Given the description of an element on the screen output the (x, y) to click on. 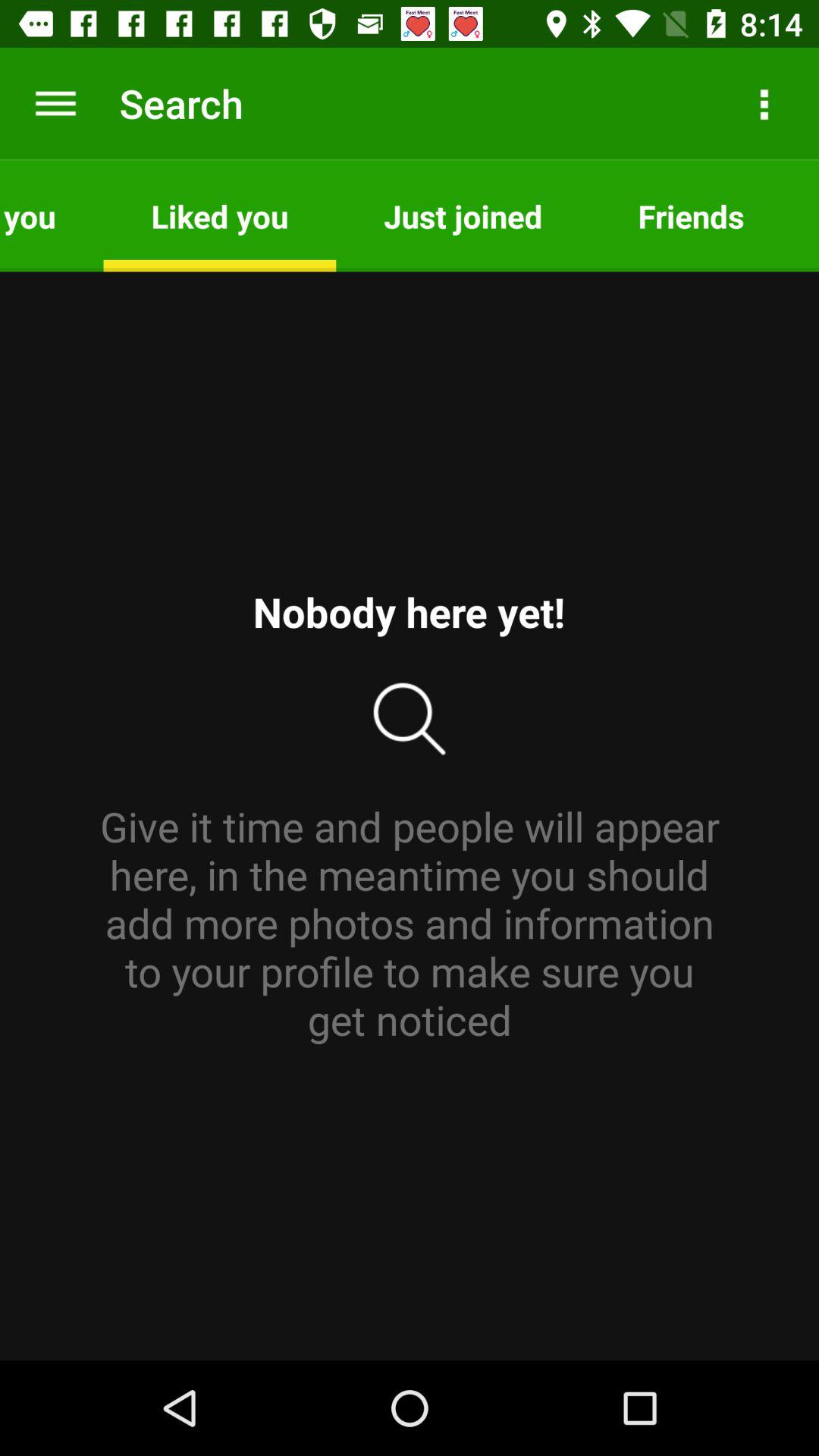
turn on visited you item (51, 215)
